Given the description of an element on the screen output the (x, y) to click on. 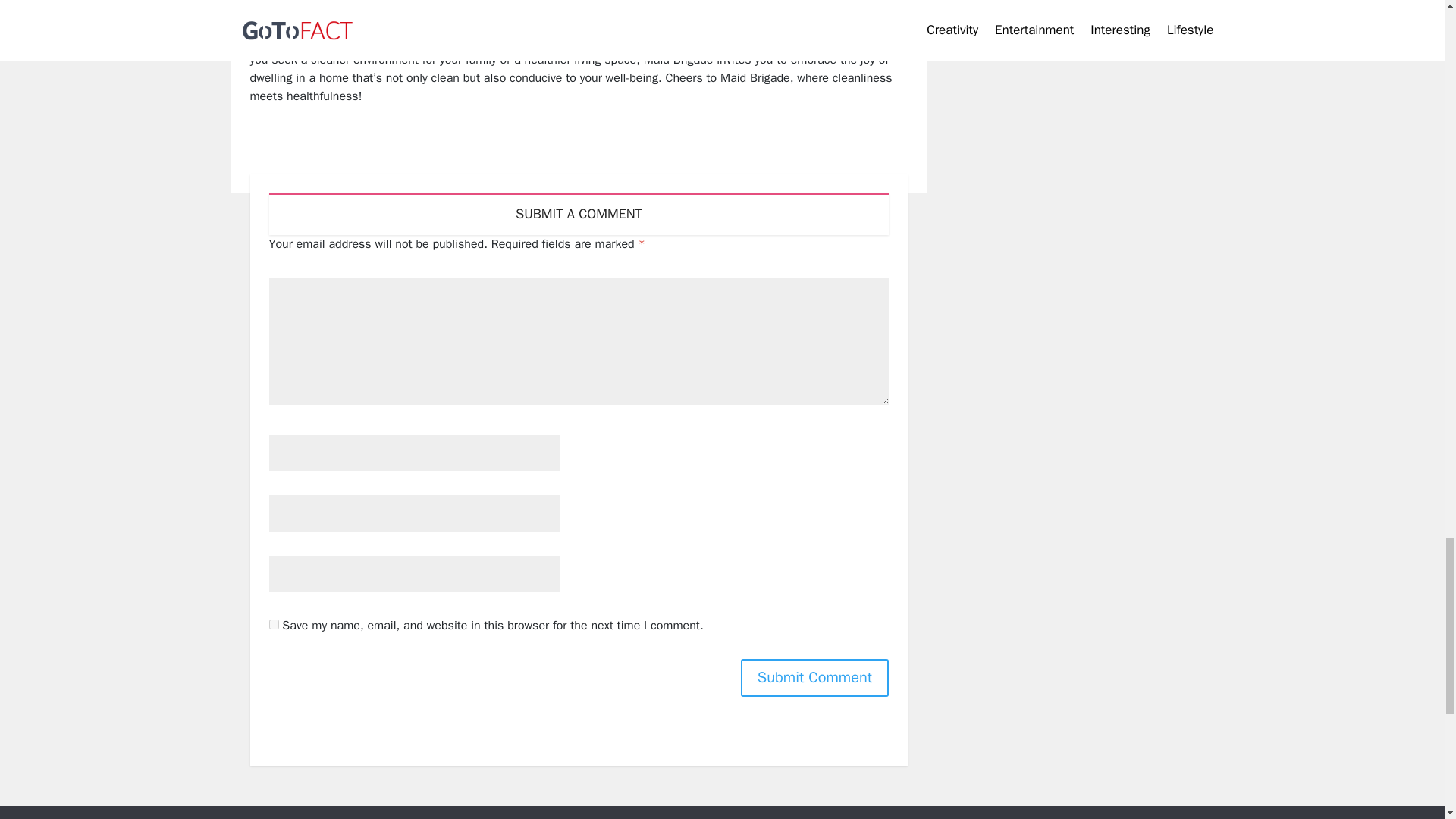
Submit Comment (814, 677)
yes (272, 624)
Submit Comment (814, 677)
